Given the description of an element on the screen output the (x, y) to click on. 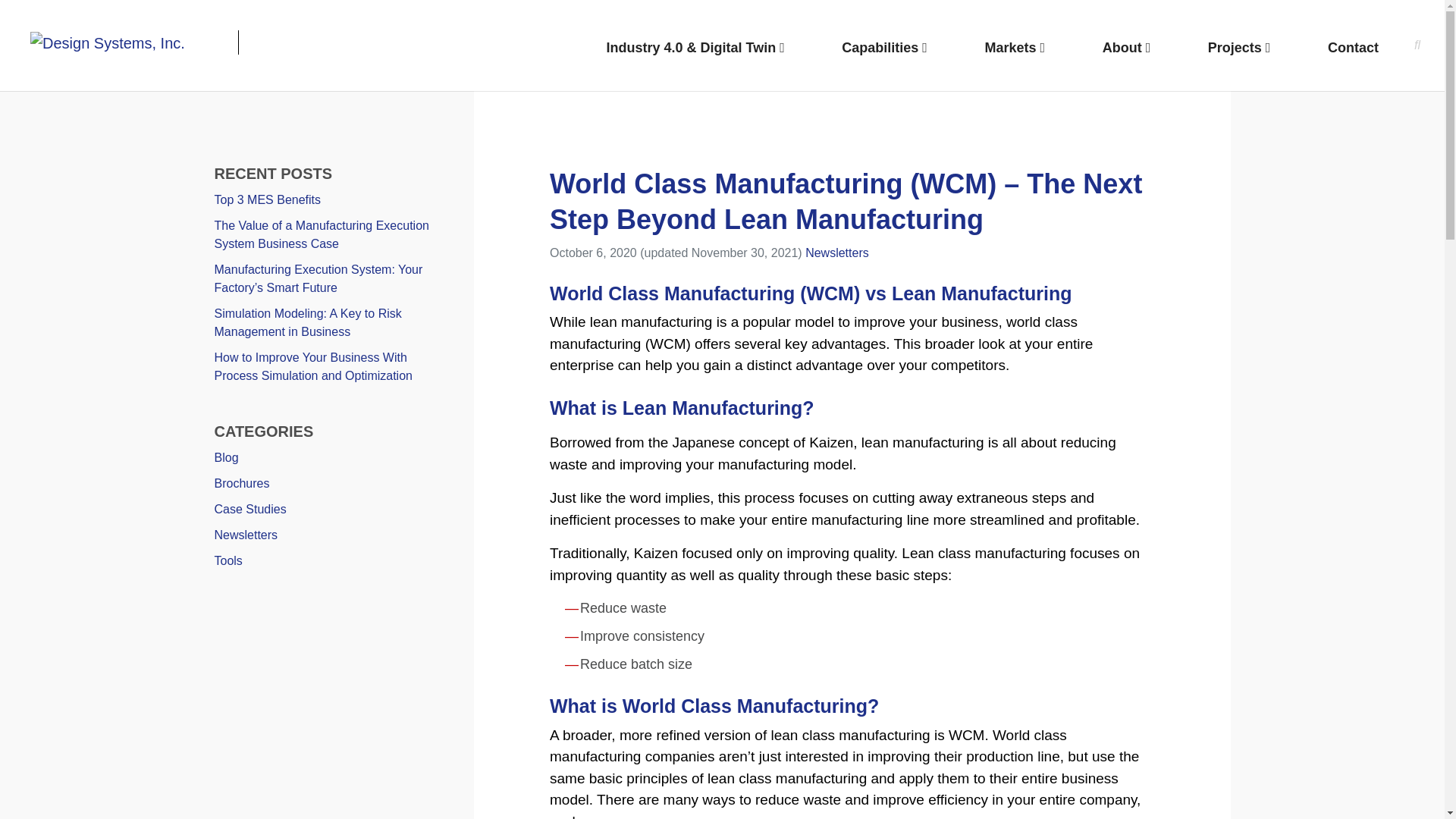
Projects (1238, 48)
Markets (1014, 48)
Capabilities (884, 48)
About (1126, 48)
Contact (1353, 48)
